Given the description of an element on the screen output the (x, y) to click on. 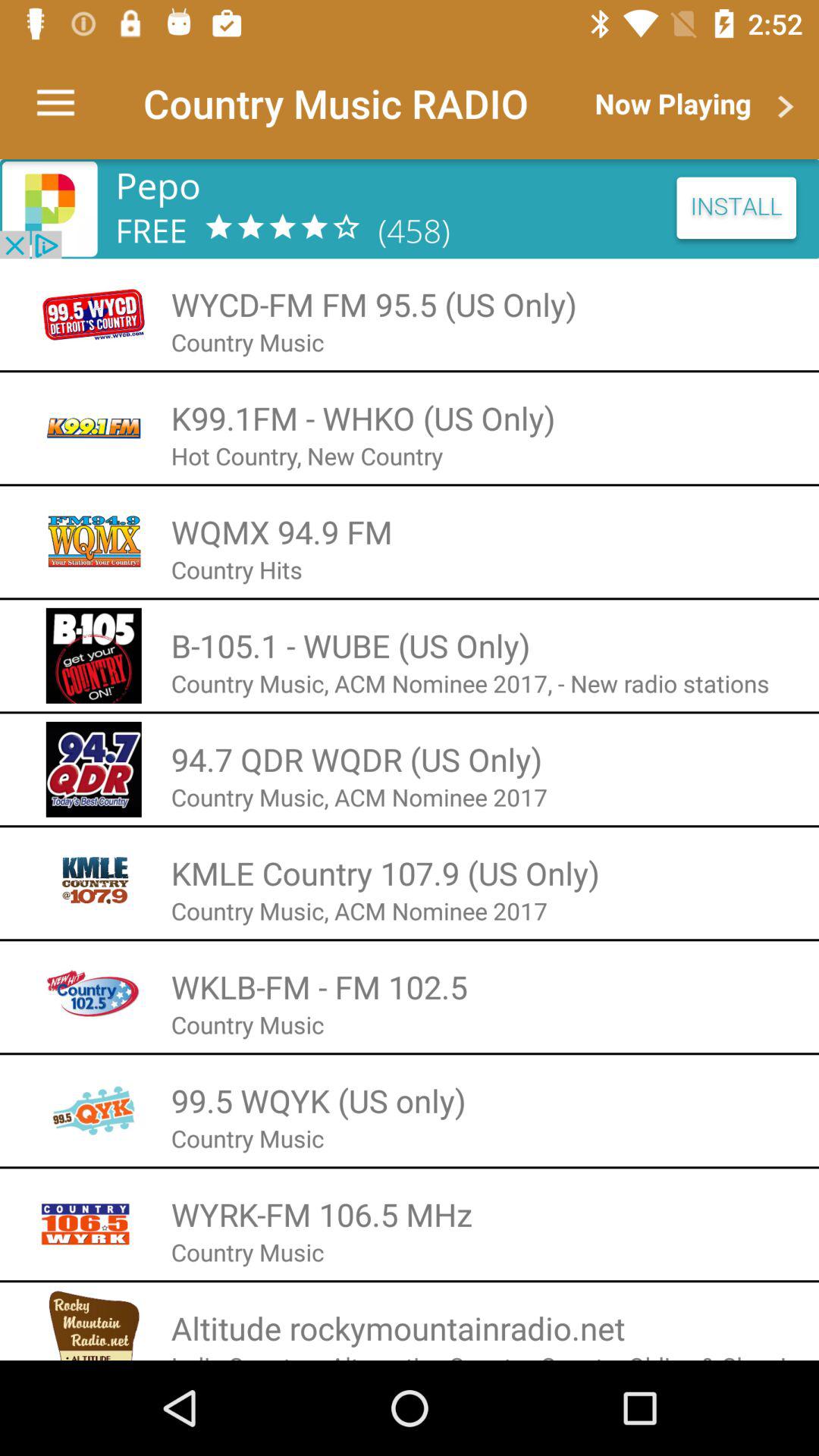
install the station (409, 208)
